Given the description of an element on the screen output the (x, y) to click on. 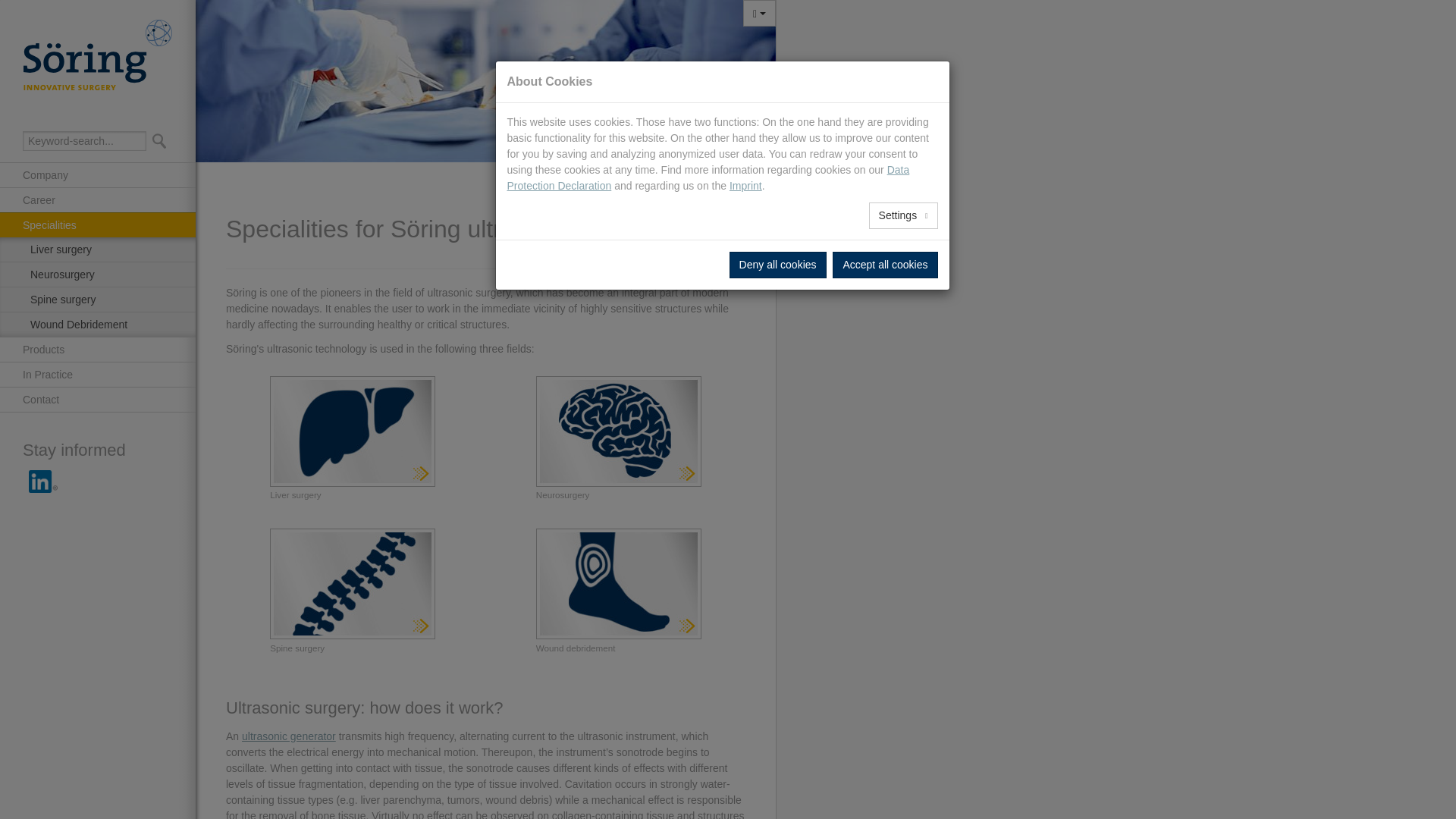
Contact (97, 398)
Wound Debridement (97, 324)
Neurosurgery (97, 273)
More about ultrasonic-assisted spine surgery (352, 583)
Specialities (721, 178)
More about ultrasonic liver surgery (352, 430)
Liver surgery with ultrasonic instruments (97, 249)
Home (669, 178)
Company (97, 174)
More about ultrasonic generators (288, 736)
IN PRACTICE - Developed by experts for experts (97, 373)
Spine surgery (97, 299)
In Practice (97, 373)
Career (97, 199)
More about Ultrasonic-Assisted Wound Debridement (618, 583)
